Given the description of an element on the screen output the (x, y) to click on. 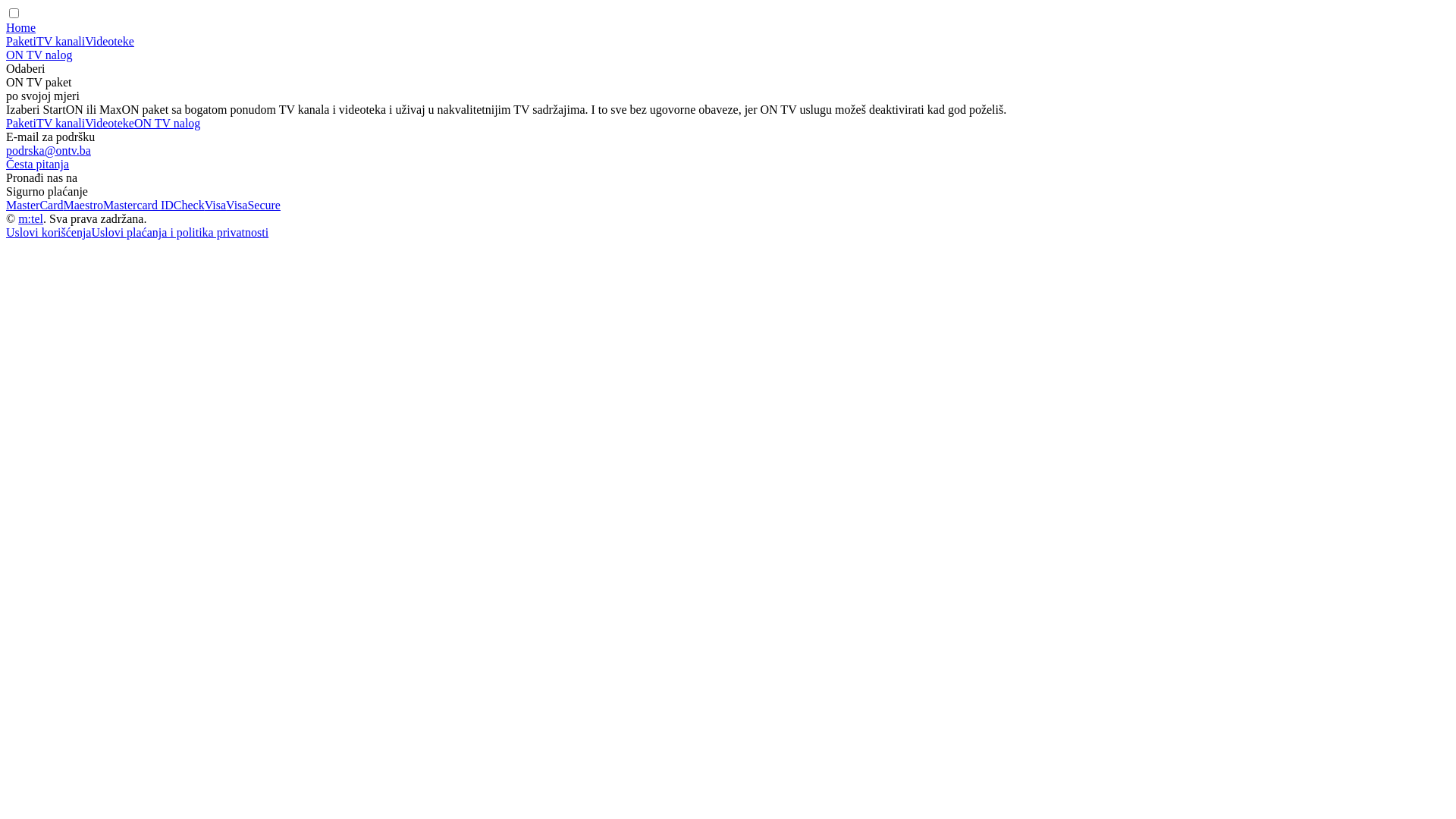
podrska@ontv.ba Element type: text (48, 150)
ON TV nalog Element type: text (167, 122)
Maestro Element type: text (83, 204)
m:tel Element type: text (30, 218)
Videoteke Element type: text (109, 40)
TV kanali Element type: text (60, 40)
Mastercard IDCheck Element type: text (153, 204)
ON TV nalog Element type: text (39, 54)
TV kanali Element type: text (60, 122)
Paketi Element type: text (21, 122)
Videoteke Element type: text (109, 122)
Paketi Element type: text (21, 40)
VisaSecure Element type: text (252, 204)
MasterCard Element type: text (34, 204)
Home Element type: text (20, 27)
Visa Element type: text (214, 204)
